Given the description of an element on the screen output the (x, y) to click on. 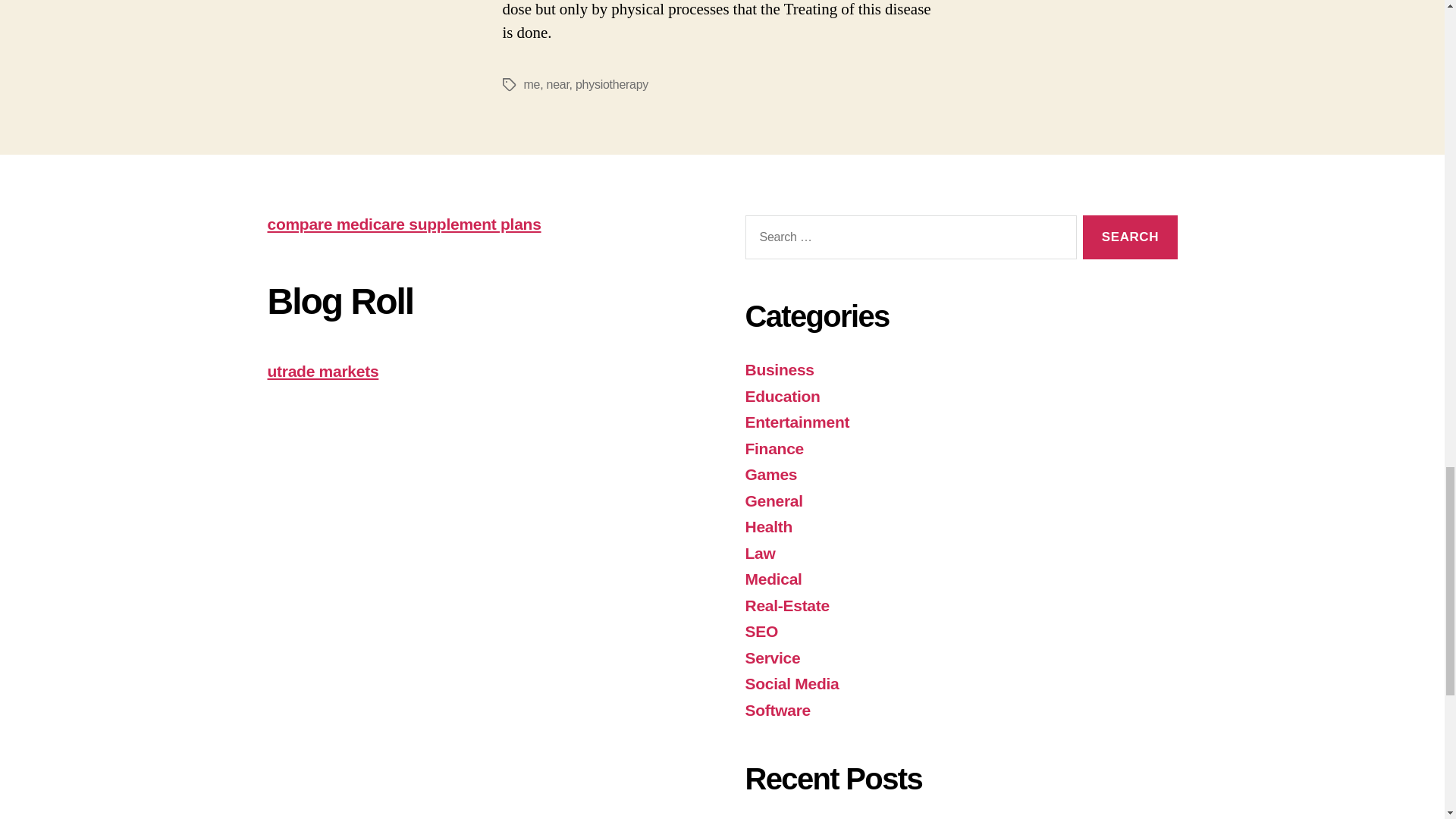
Search (1129, 237)
Real-Estate (786, 605)
Social Media (791, 683)
Games (770, 474)
Health (768, 526)
near (558, 83)
Search (1129, 237)
Software (777, 710)
SEO (760, 630)
Business (778, 369)
Education (781, 395)
me (531, 83)
General (773, 500)
physiotherapy (611, 83)
Law (759, 552)
